Given the description of an element on the screen output the (x, y) to click on. 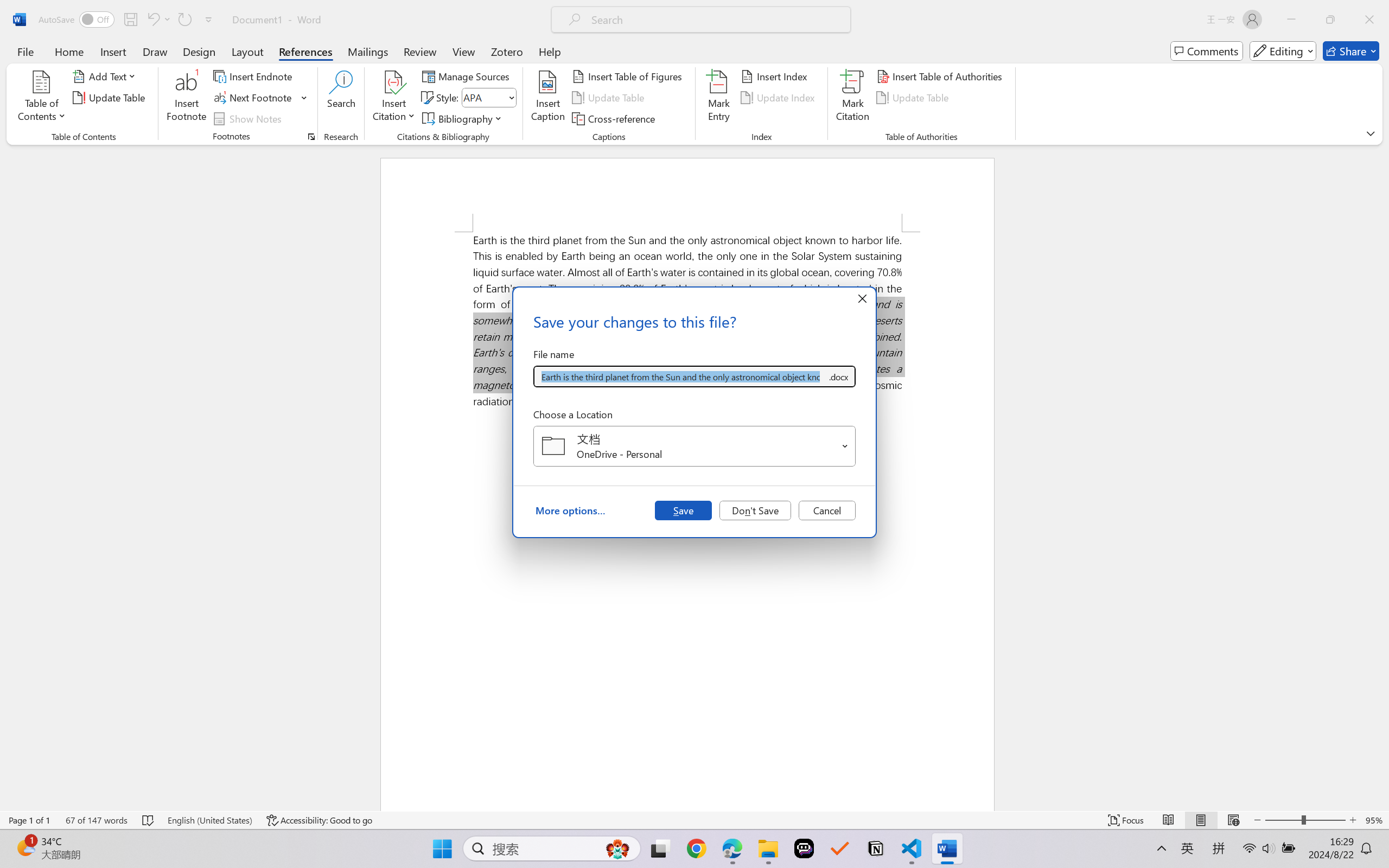
Footnote and Endnote Dialog... (311, 136)
Save as type (837, 376)
Zoom 95% (1374, 819)
Style (488, 97)
